Given the description of an element on the screen output the (x, y) to click on. 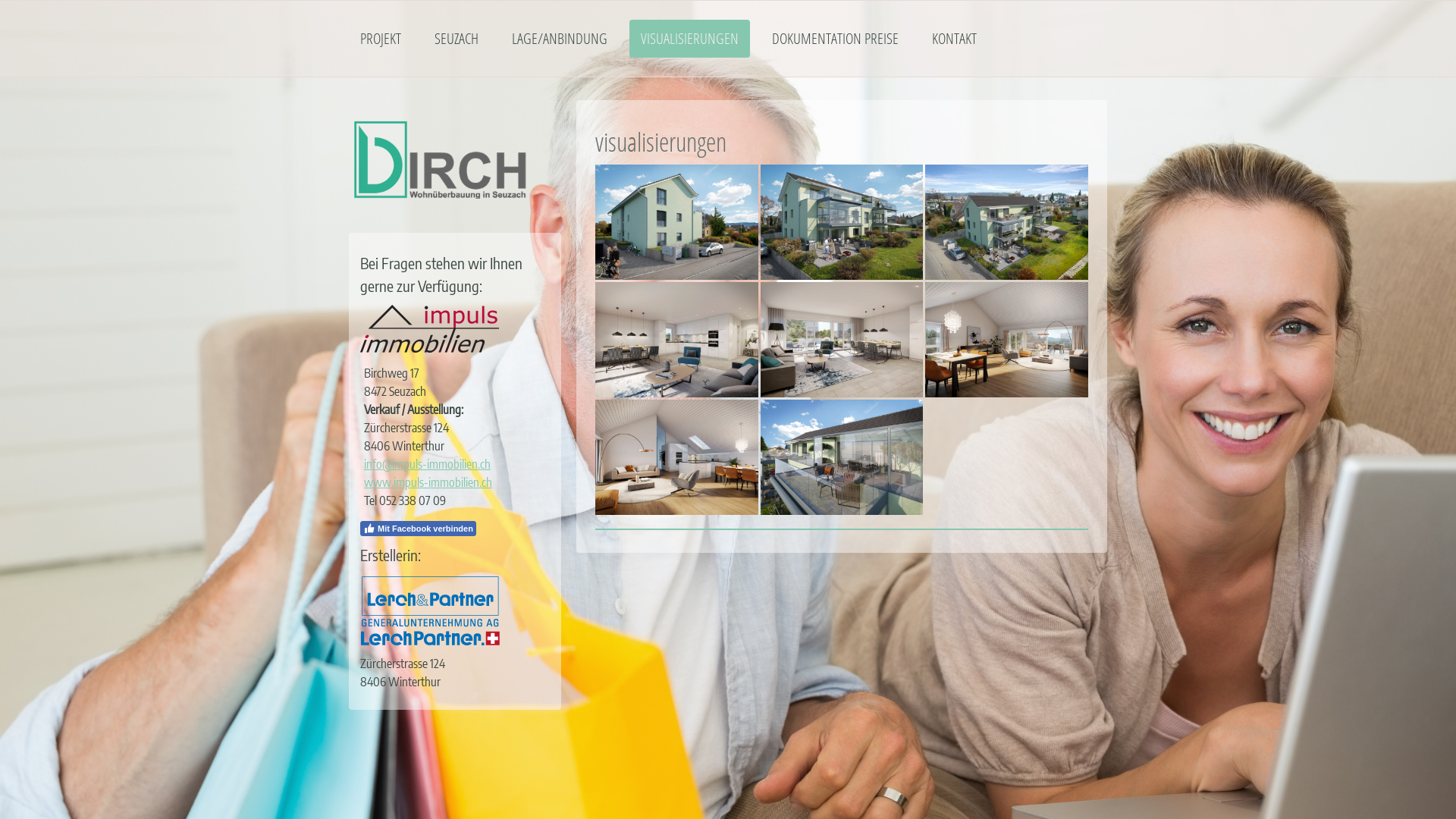
info@impuls-immobilien.ch Element type: text (427, 463)
KONTAKT Element type: text (954, 38)
Mit Facebook verbinden Element type: text (418, 528)
DOKUMENTATION PREISE Element type: text (835, 38)
SEUZACH Element type: text (456, 38)
PROJEKT Element type: text (380, 38)
VISUALISIERUNGEN Element type: text (689, 38)
LAGE/ANBINDUNG Element type: text (559, 38)
www.impuls-immobilien.ch Element type: text (428, 481)
